Given the description of an element on the screen output the (x, y) to click on. 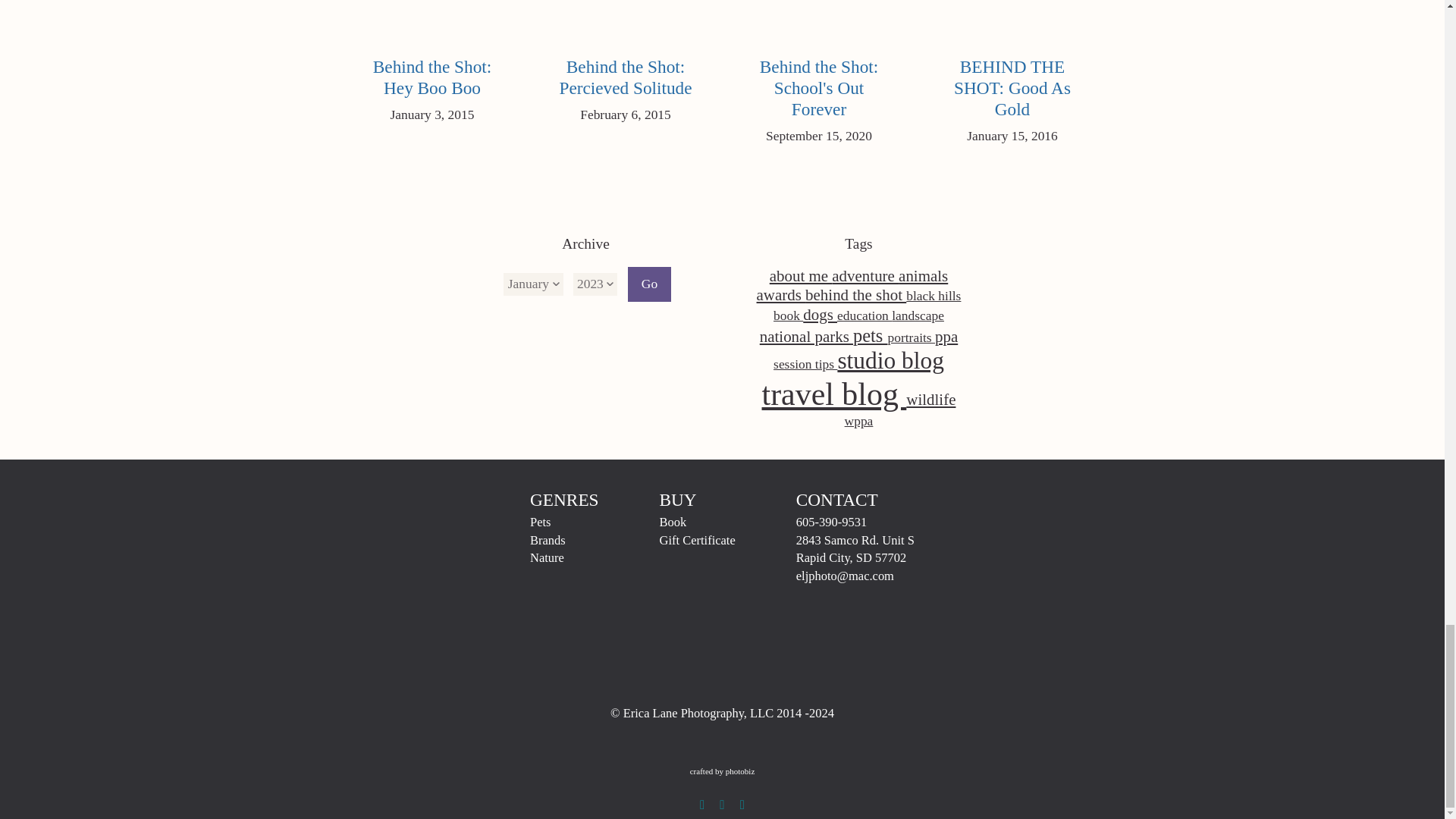
about me (625, 61)
Go (801, 275)
animals (431, 61)
awards (648, 283)
behind the shot (1012, 72)
adventure (922, 275)
